Given the description of an element on the screen output the (x, y) to click on. 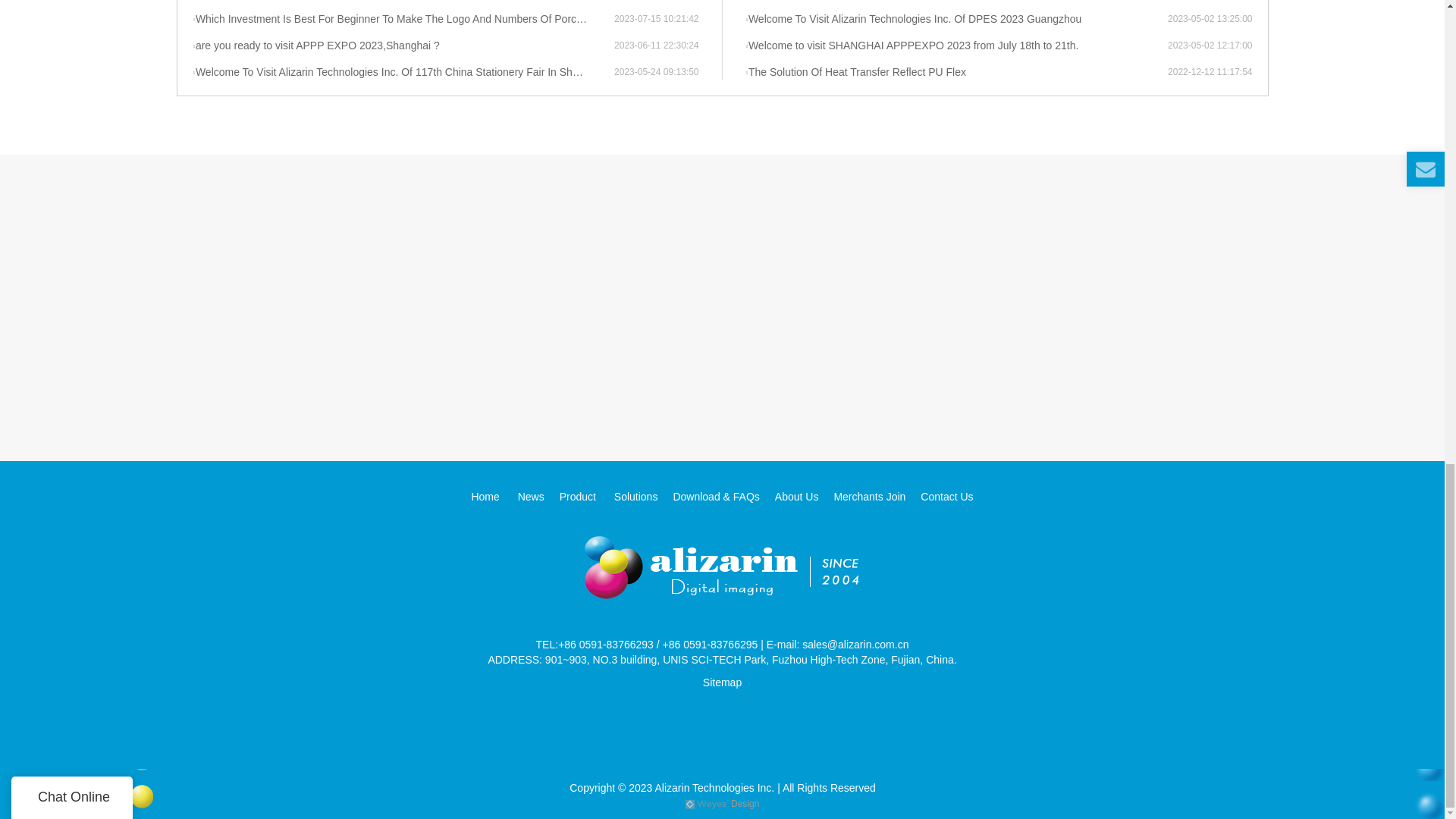
The Solution Of Heat Transfer Reflect PU Flex (955, 72)
are you ready to visit APPP EXPO 2023,Shanghai ? (403, 46)
